Given the description of an element on the screen output the (x, y) to click on. 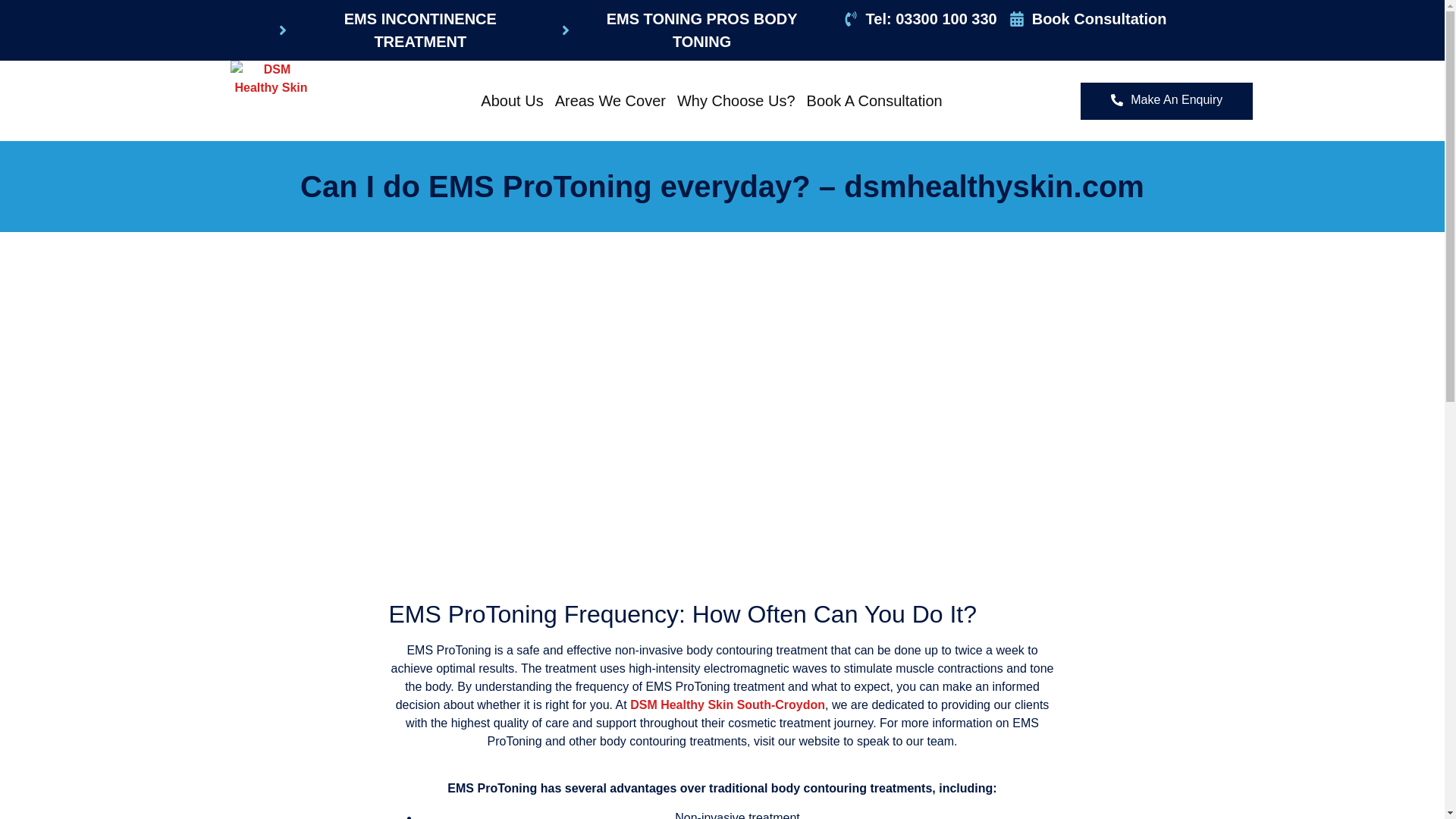
Make An Enquiry (1166, 100)
Why Choose Us? (735, 100)
Areas We Cover (610, 100)
Tel: 03300 100 330 (920, 18)
EMS INCONTINENCE TREATMENT (409, 30)
EMS TONING PROS BODY TONING (689, 30)
Book A Consultation (874, 100)
DSM Healthy Skin South-Croydon (727, 704)
Book Consultation (1088, 18)
About Us (512, 100)
